Given the description of an element on the screen output the (x, y) to click on. 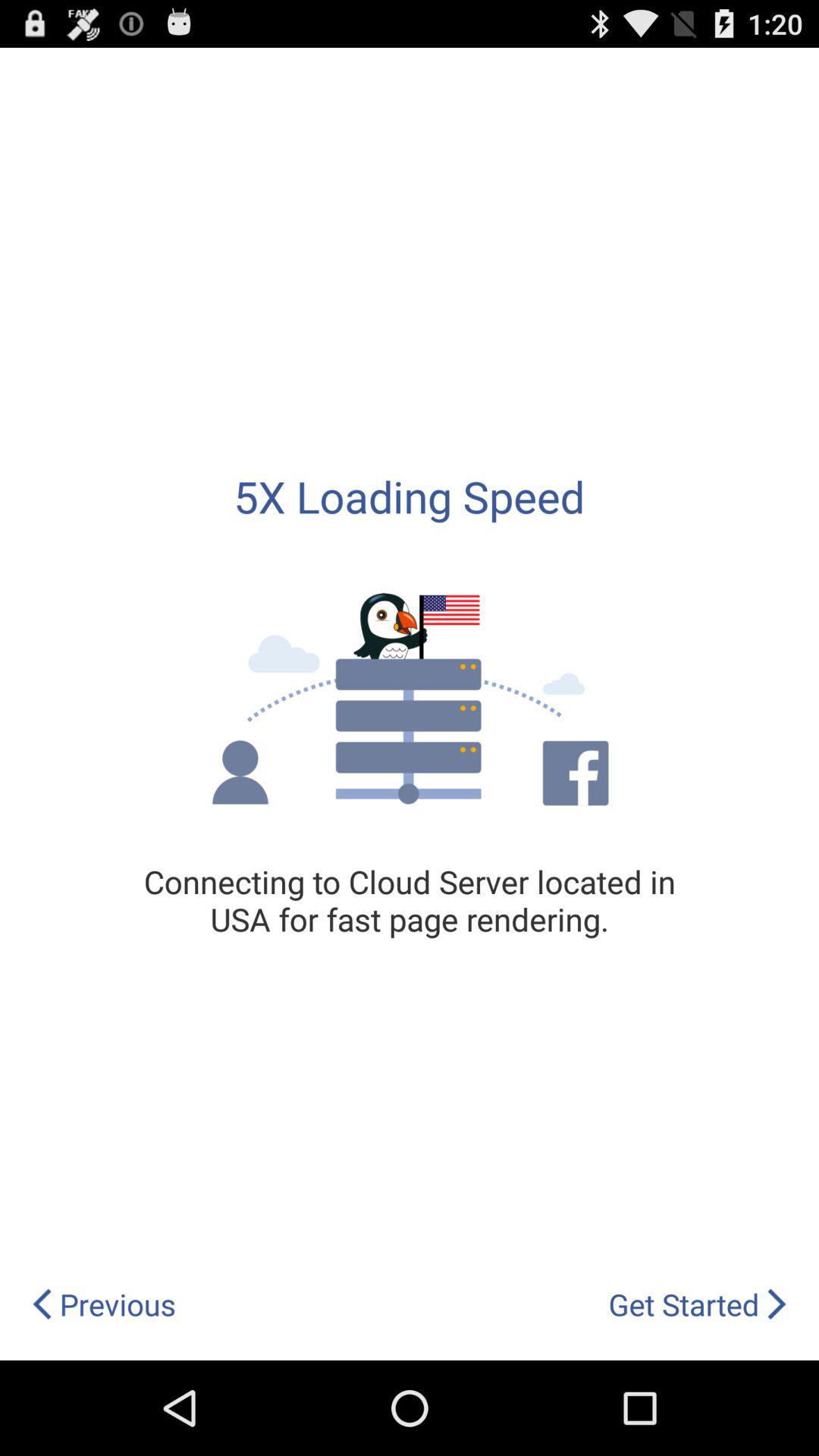
launch the app next to get started app (103, 1304)
